Given the description of an element on the screen output the (x, y) to click on. 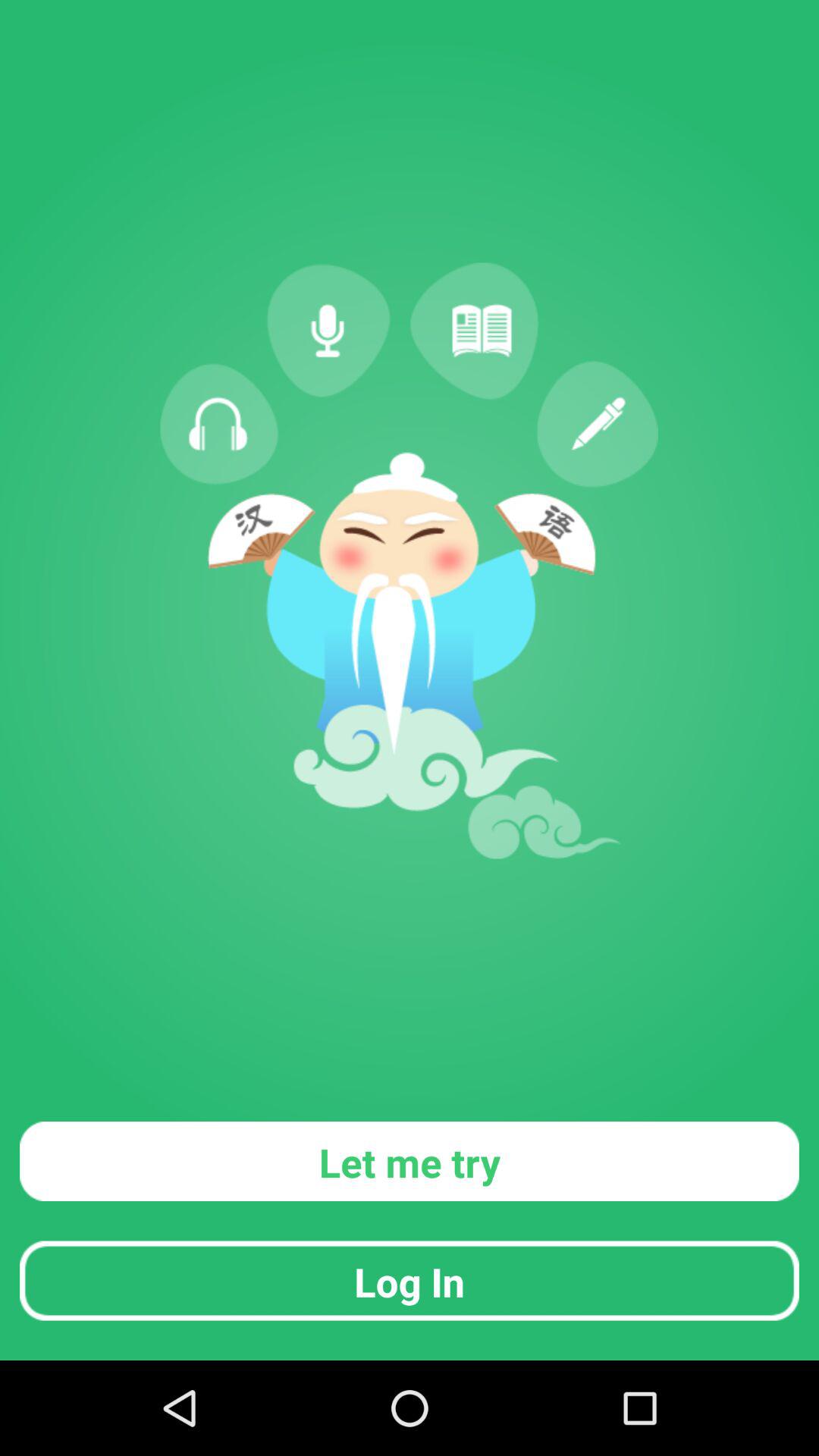
launch icon above the log in button (409, 1161)
